Given the description of an element on the screen output the (x, y) to click on. 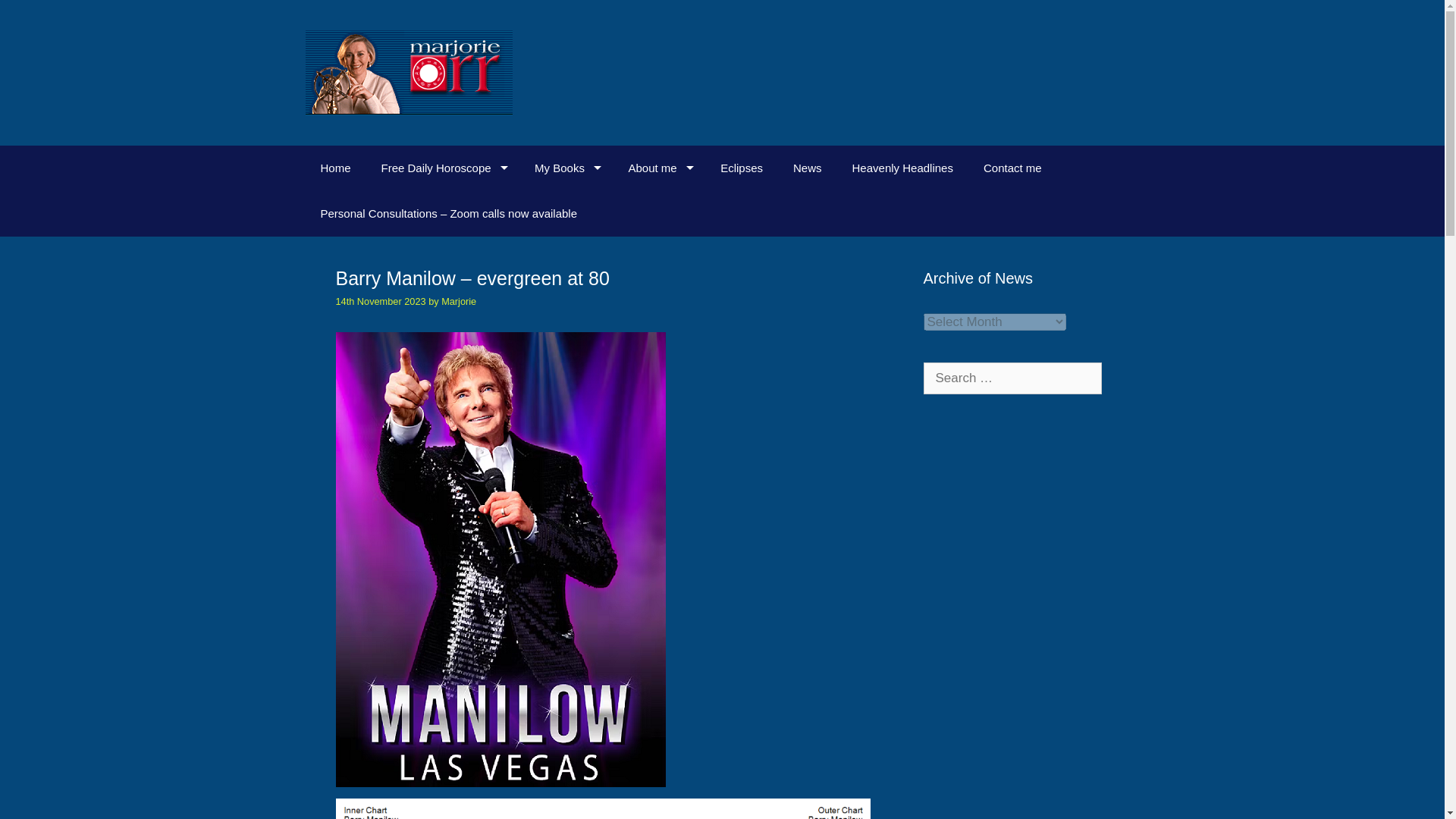
About me (658, 167)
1:05 pm (379, 301)
Heavenly Headlines (902, 167)
My Books (565, 167)
Free Daily Horoscope (442, 167)
News (807, 167)
Home (334, 167)
14th November 2023 (379, 301)
View all posts by Marjorie (458, 301)
Marjorie (458, 301)
Search for: (1012, 377)
Contact me (1012, 167)
Eclipses (740, 167)
